Given the description of an element on the screen output the (x, y) to click on. 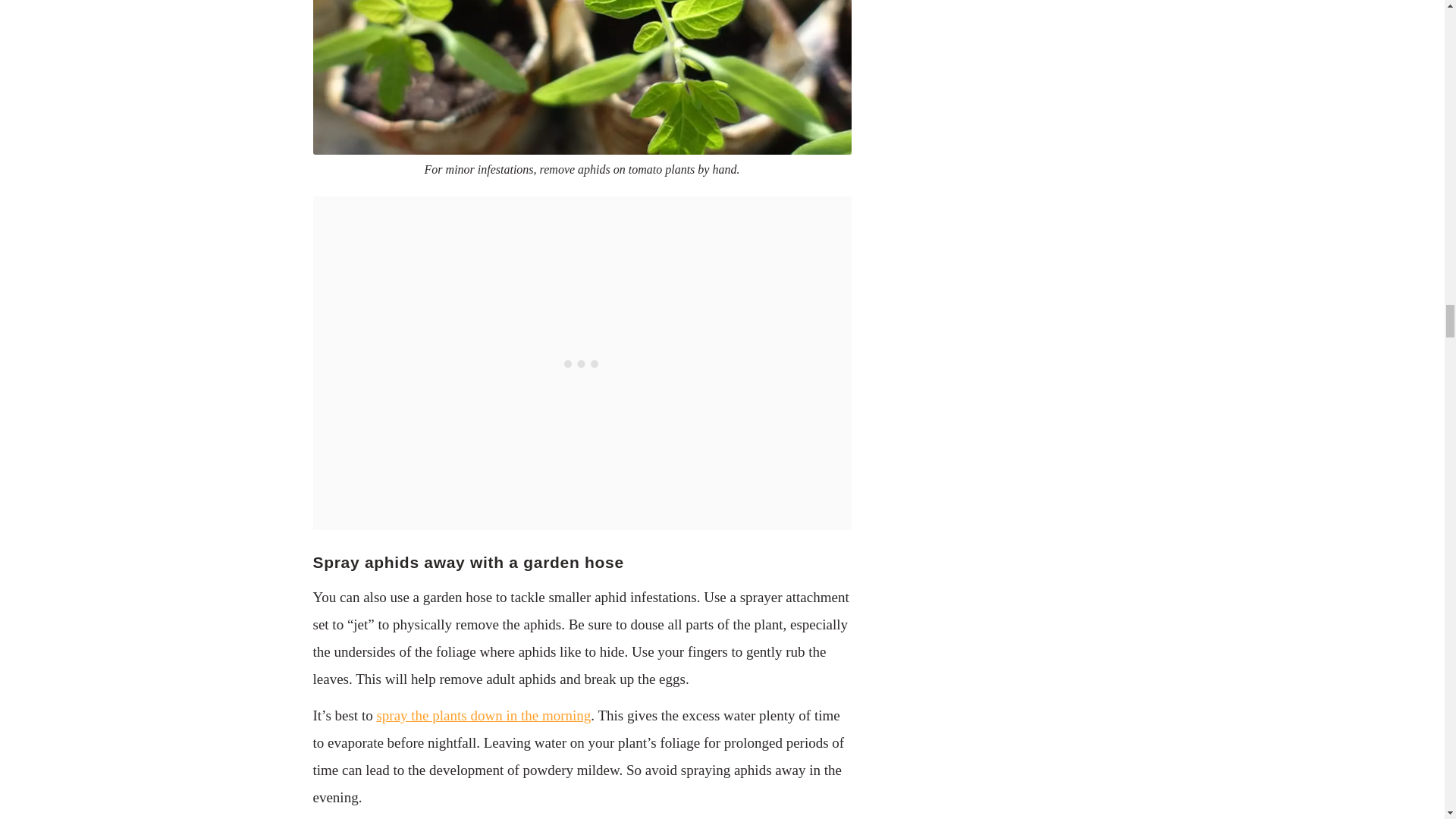
spray the plants down in the morning (483, 715)
